Given the description of an element on the screen output the (x, y) to click on. 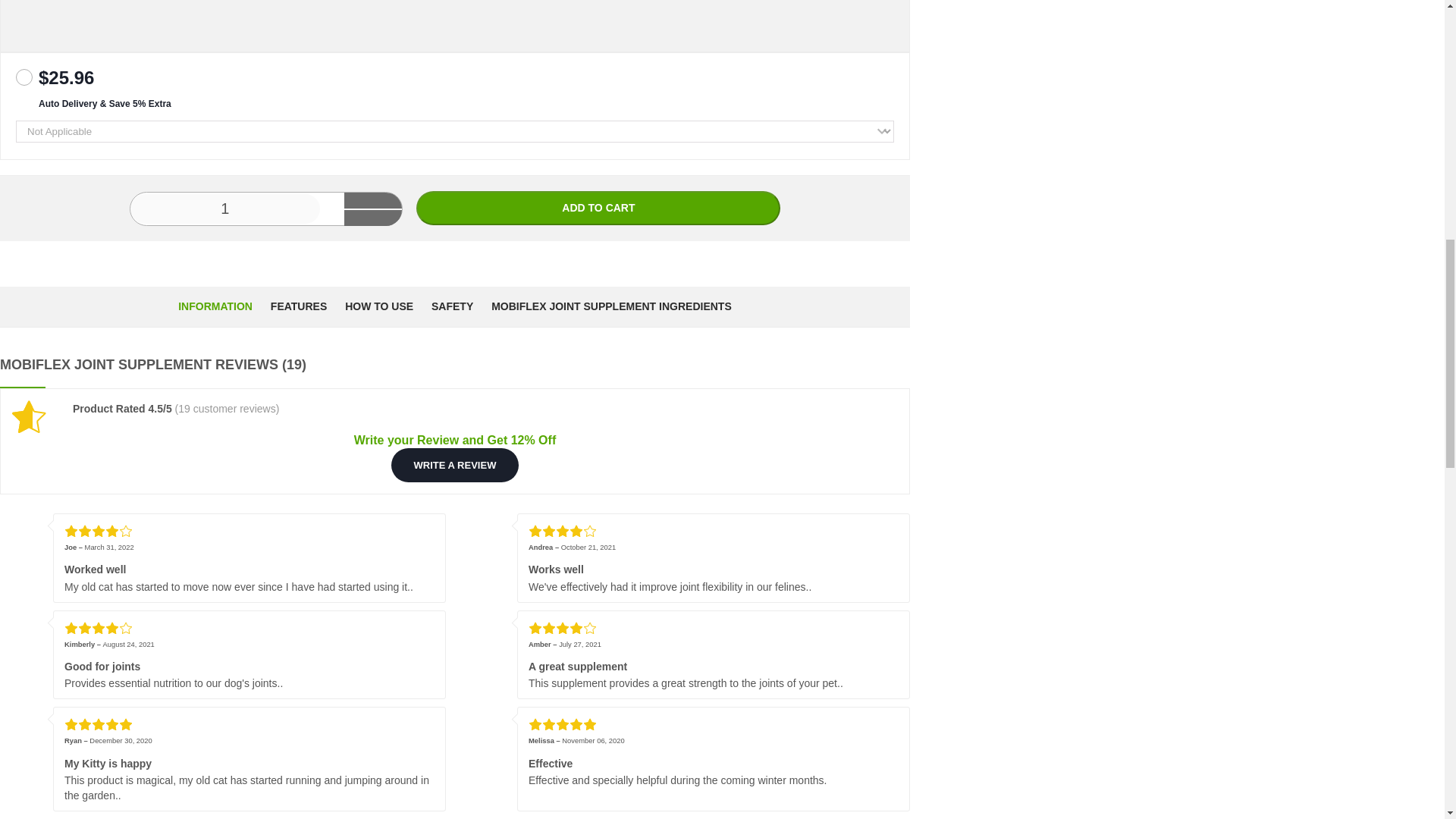
4.5 star out of 5 (34, 416)
1 (225, 208)
Add To Cart (598, 207)
